Given the description of an element on the screen output the (x, y) to click on. 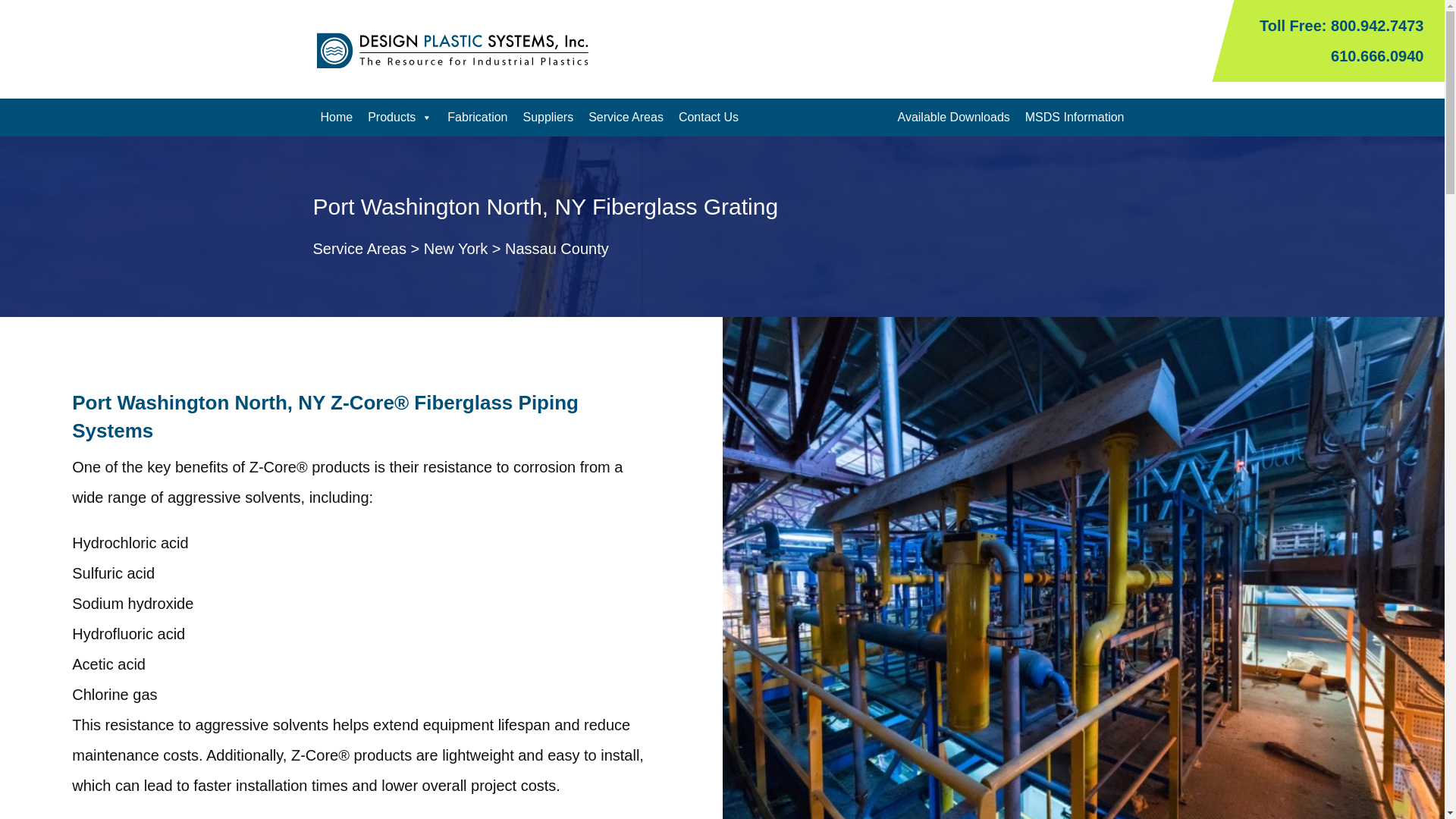
Products (399, 117)
Fabrication (477, 117)
Home (336, 117)
Suppliers (547, 117)
Contact Us (708, 117)
Service Areas (625, 117)
Available Downloads (953, 117)
New York (455, 248)
Service Areas (359, 248)
Nassau County (556, 248)
